Given the description of an element on the screen output the (x, y) to click on. 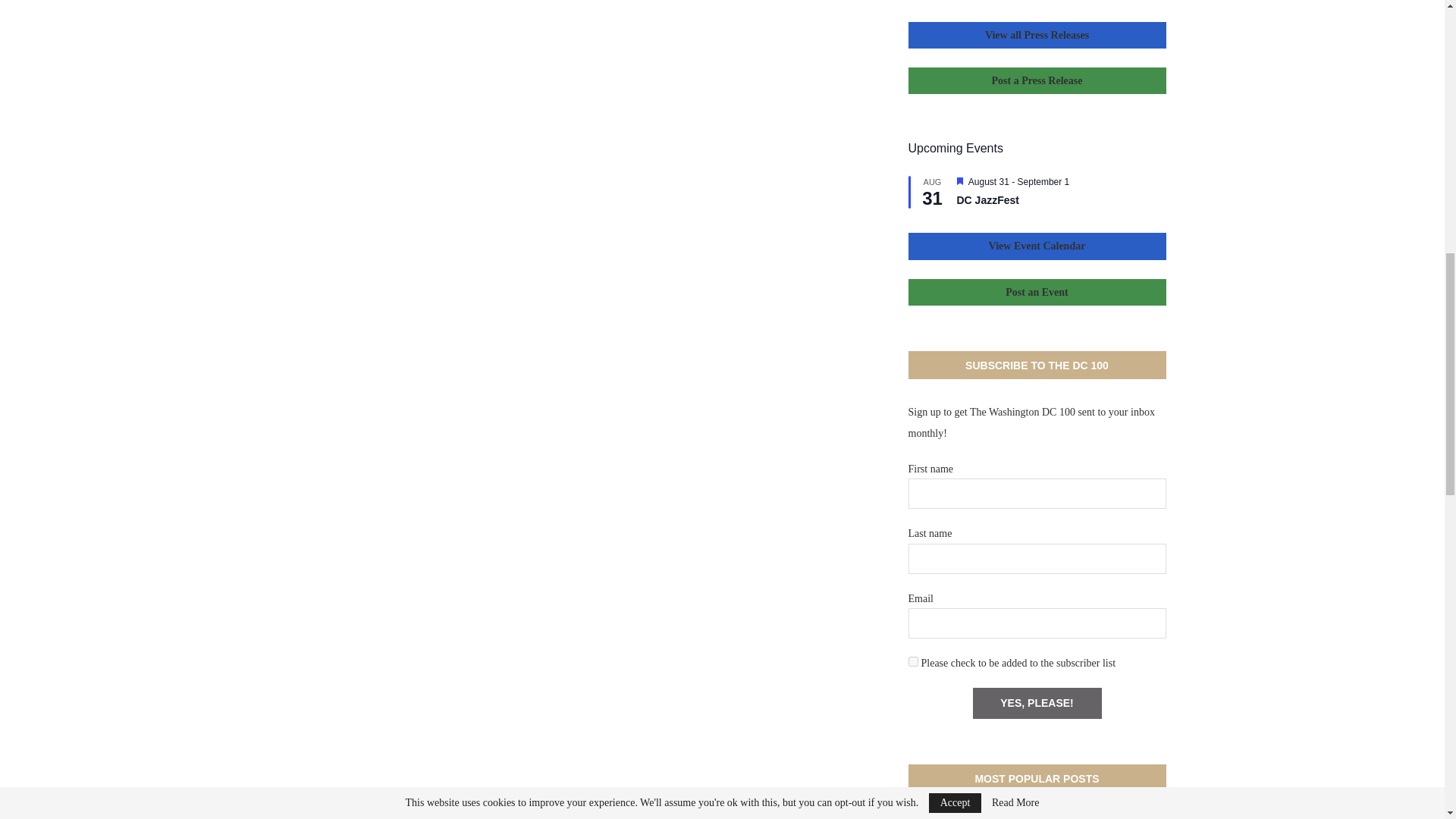
YES, PLEASE! (1036, 703)
1 (913, 661)
